Given the description of an element on the screen output the (x, y) to click on. 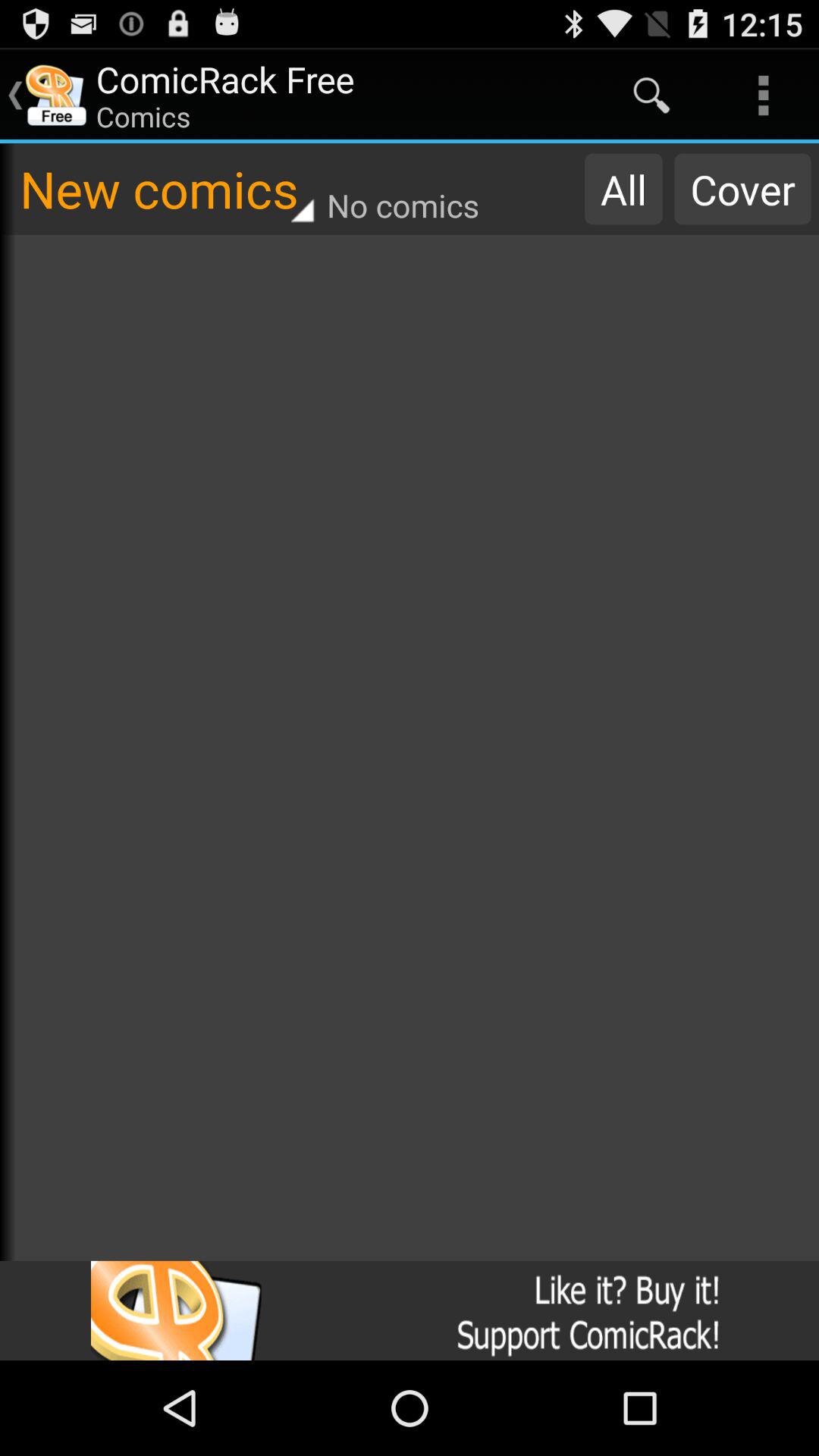
flip until cover (742, 188)
